Given the description of an element on the screen output the (x, y) to click on. 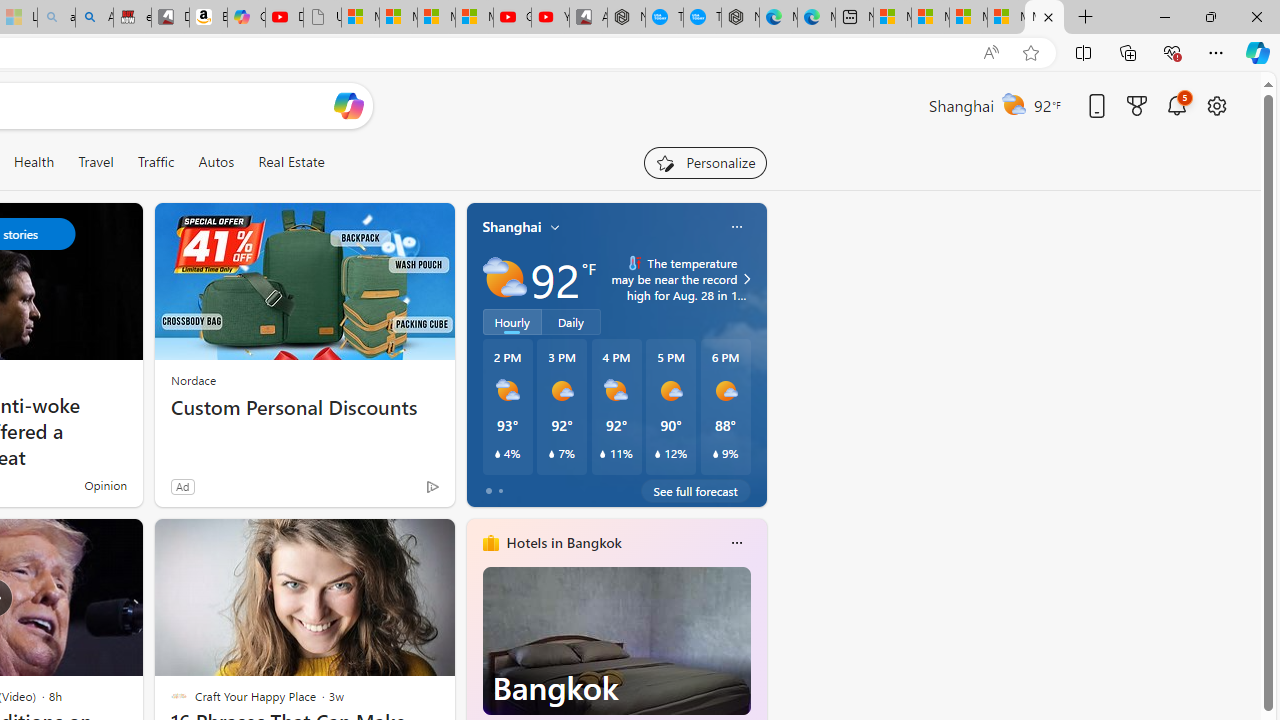
hotels-header-icon (490, 542)
